Given the description of an element on the screen output the (x, y) to click on. 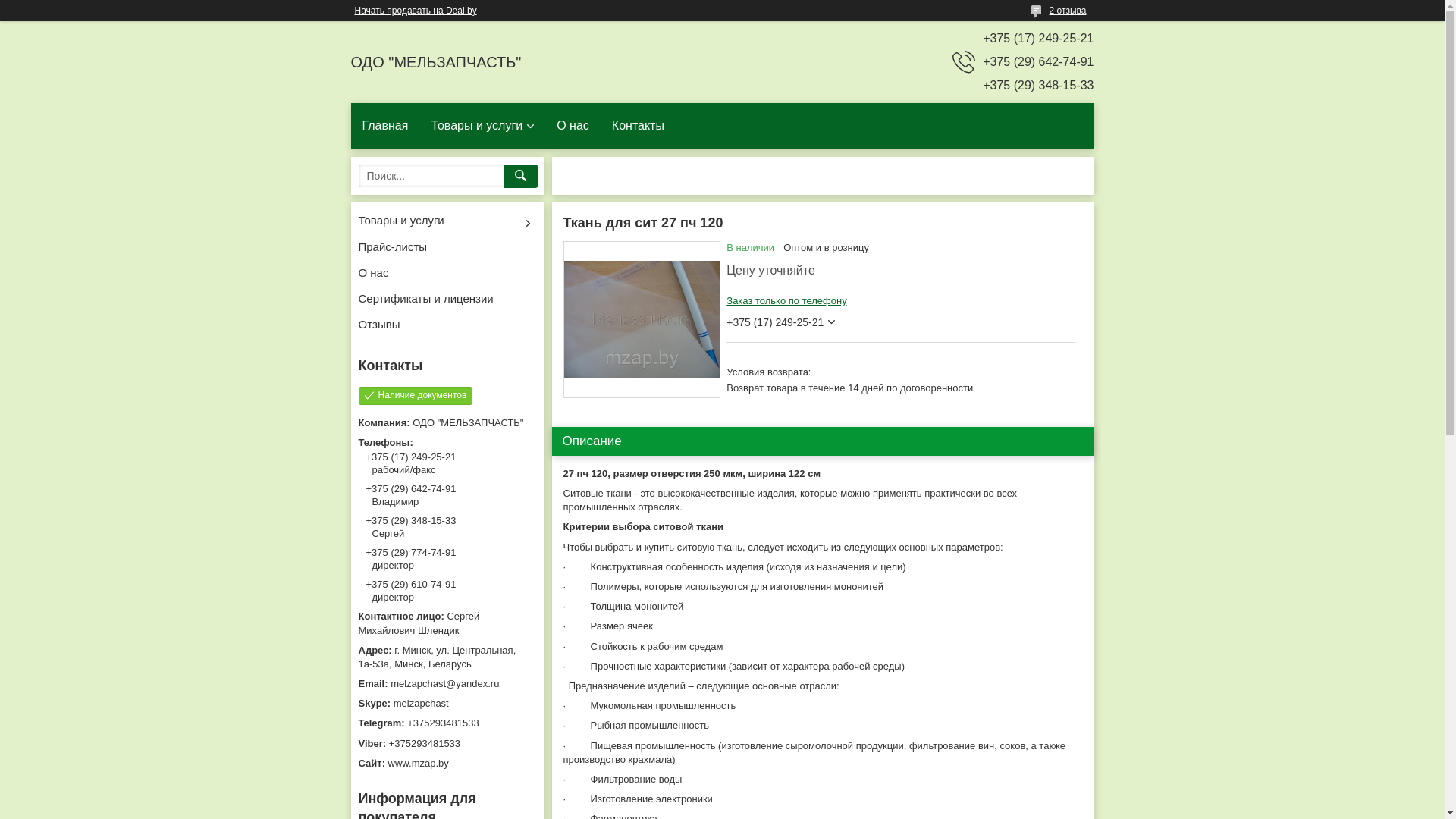
melzapchast@yandex.ru Element type: text (446, 683)
www.mzap.by Element type: text (446, 763)
